Given the description of an element on the screen output the (x, y) to click on. 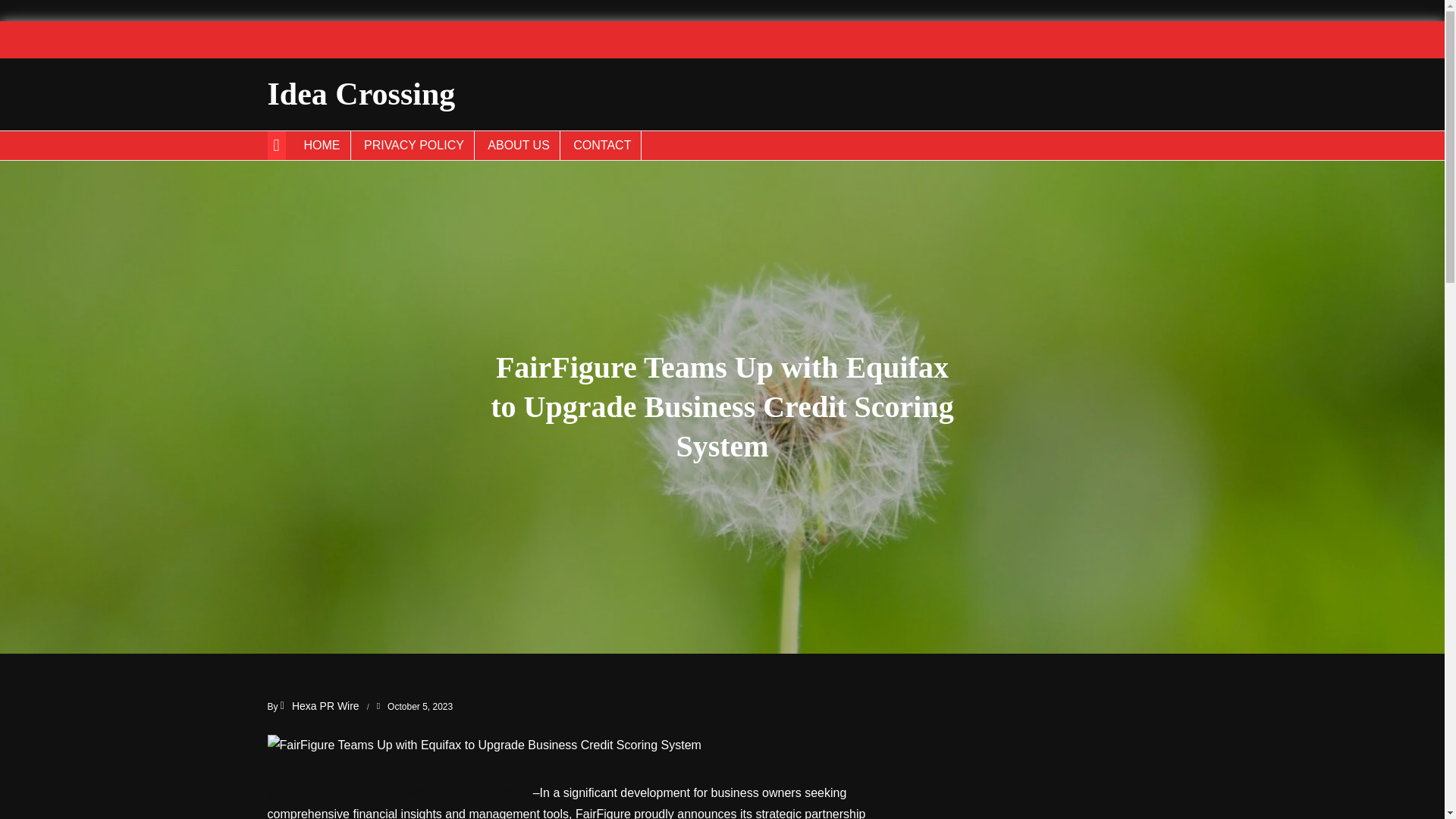
Idea Crossing (360, 93)
PRIVACY POLICY (413, 145)
HOME (322, 145)
ABOUT US (518, 145)
Hexa PR Wire (320, 705)
FairFigure (602, 813)
CONTACT (602, 145)
